Given the description of an element on the screen output the (x, y) to click on. 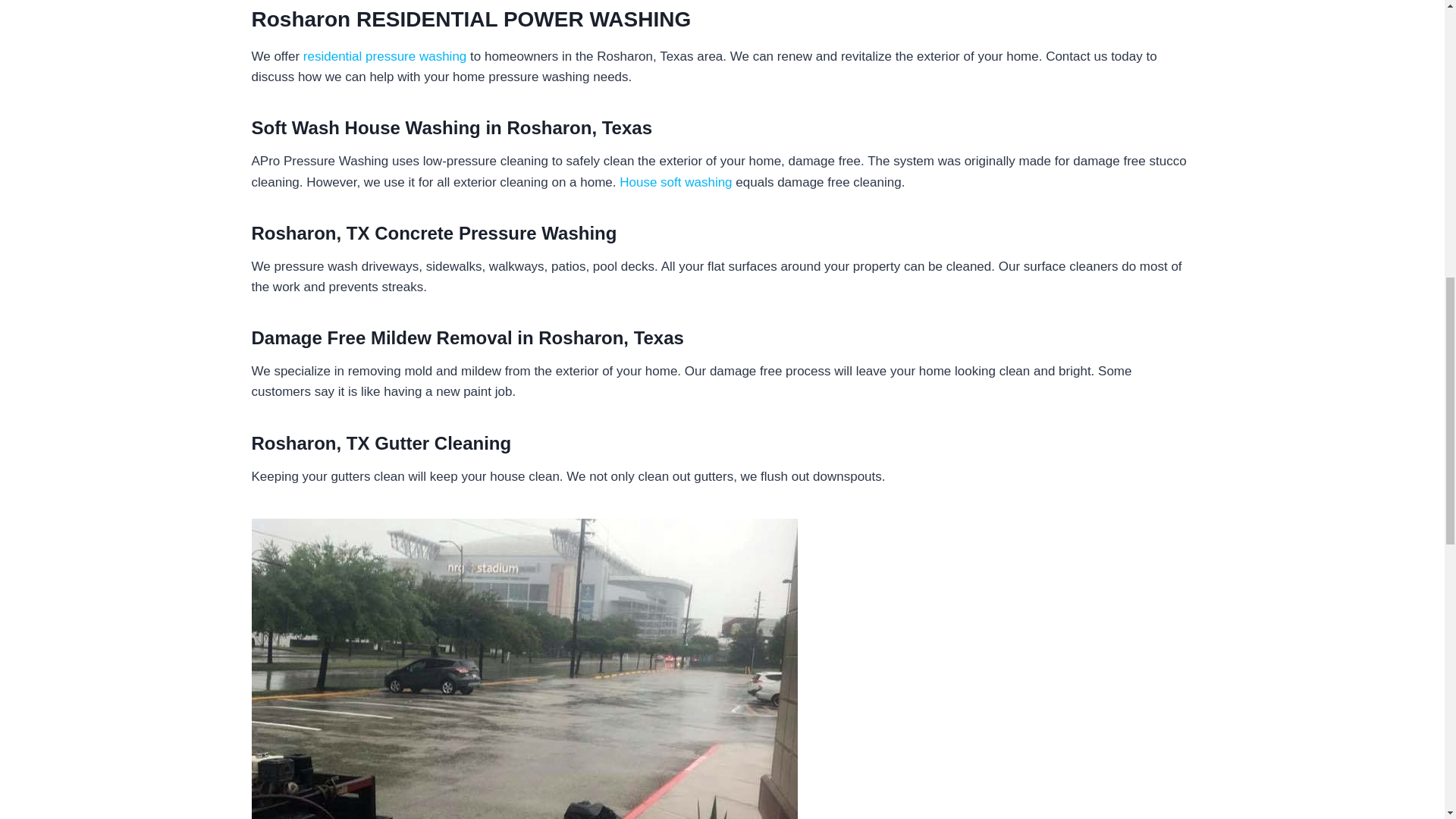
House soft washing (676, 182)
residential pressure washing (383, 56)
